Given the description of an element on the screen output the (x, y) to click on. 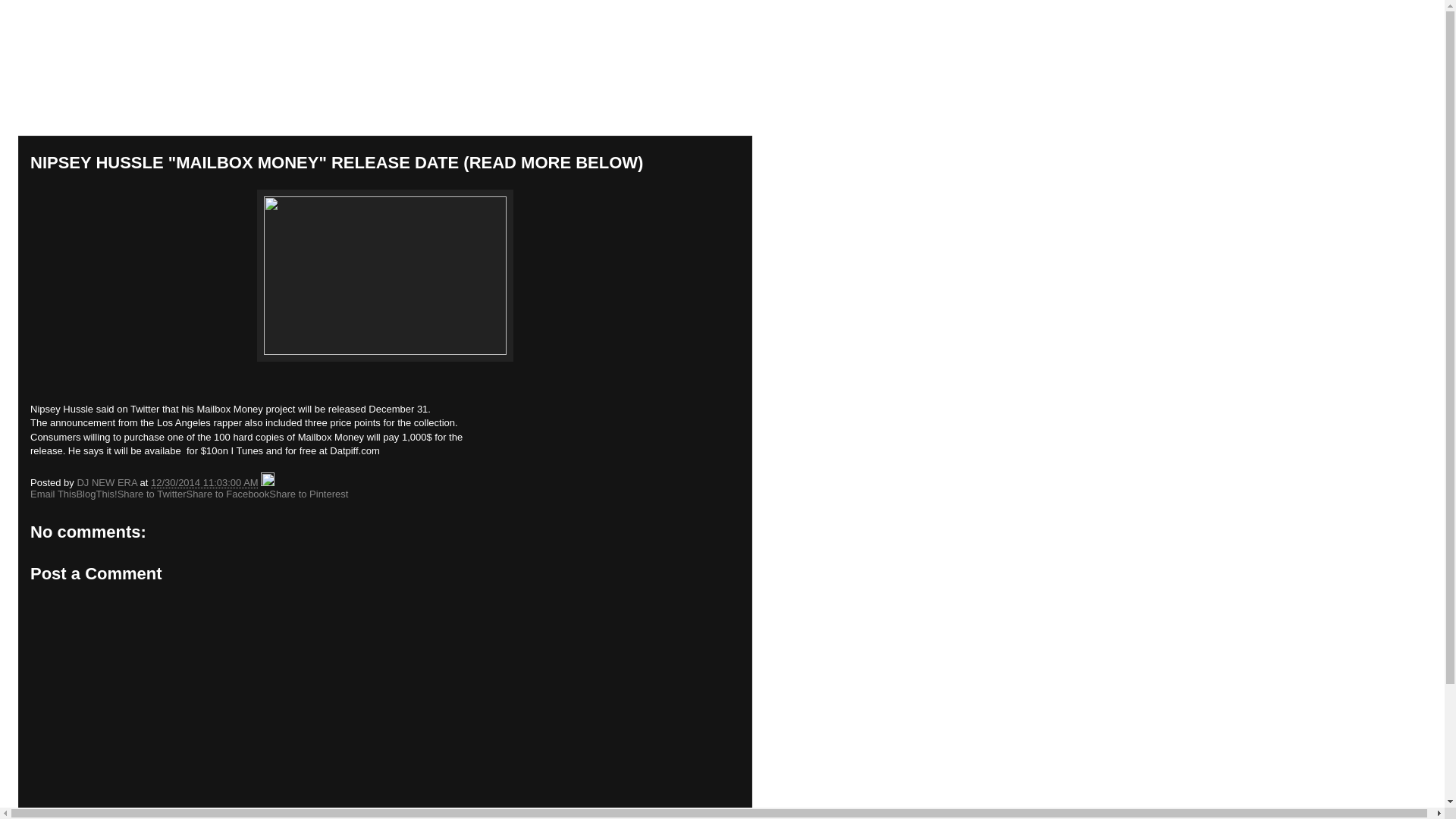
BlogThis! (95, 493)
Share to Facebook (227, 493)
Share to Twitter (151, 493)
Email This (52, 493)
Email This (52, 493)
DJNEWERA (104, 59)
BlogThis! (95, 493)
Share to Twitter (151, 493)
Share to Facebook (227, 493)
Share to Pinterest (308, 493)
